Given the description of an element on the screen output the (x, y) to click on. 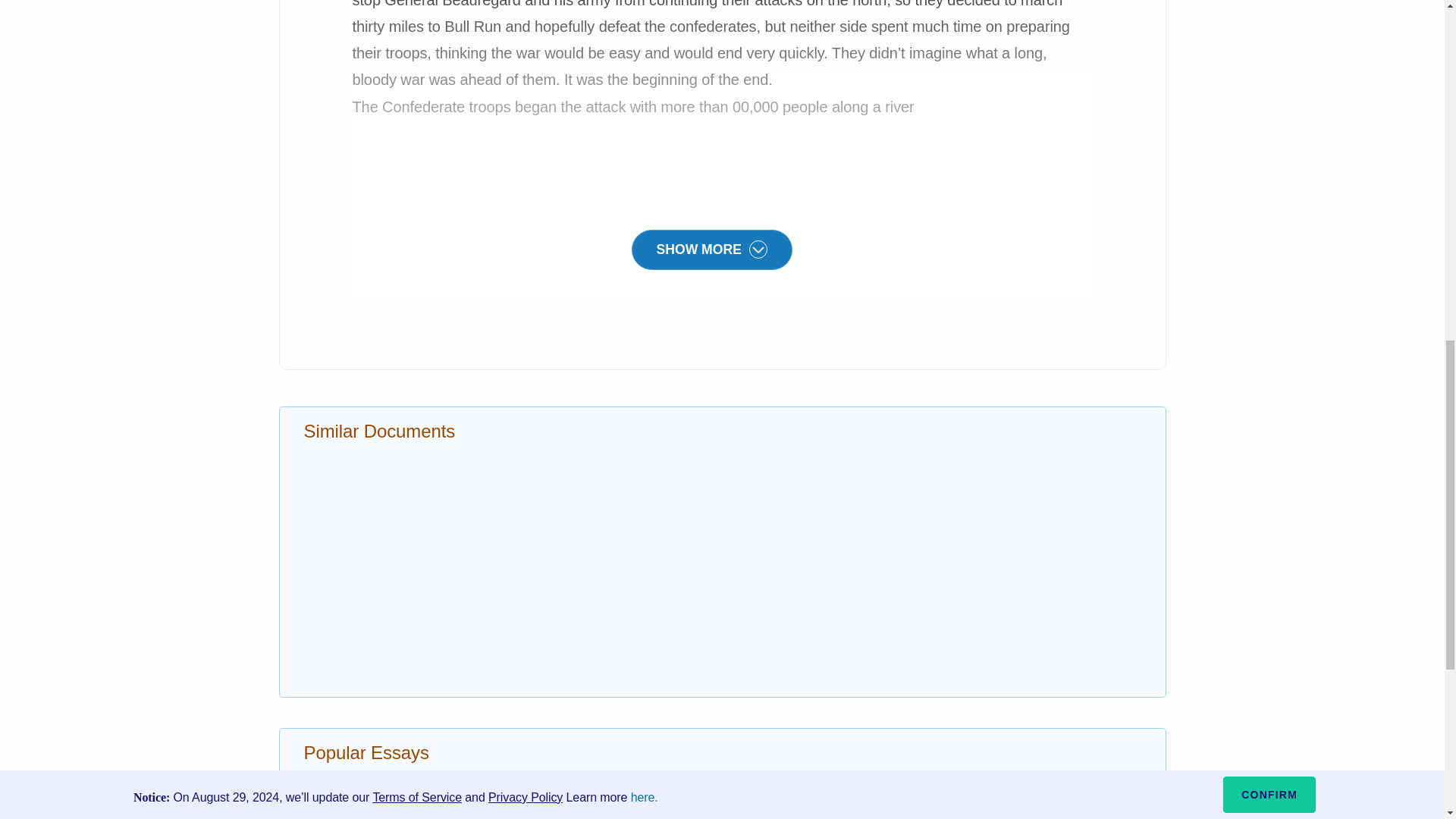
Blahed Essay (763, 781)
Current Event Essay (362, 806)
Current Event Essay (362, 806)
SHOW MORE (711, 250)
Blahed Essay (763, 781)
Comeback of Uaw Essay (796, 806)
Comeback of Uaw Essay (796, 806)
Help Essay (335, 781)
Help Essay (335, 781)
SHOW MORE (711, 247)
